Given the description of an element on the screen output the (x, y) to click on. 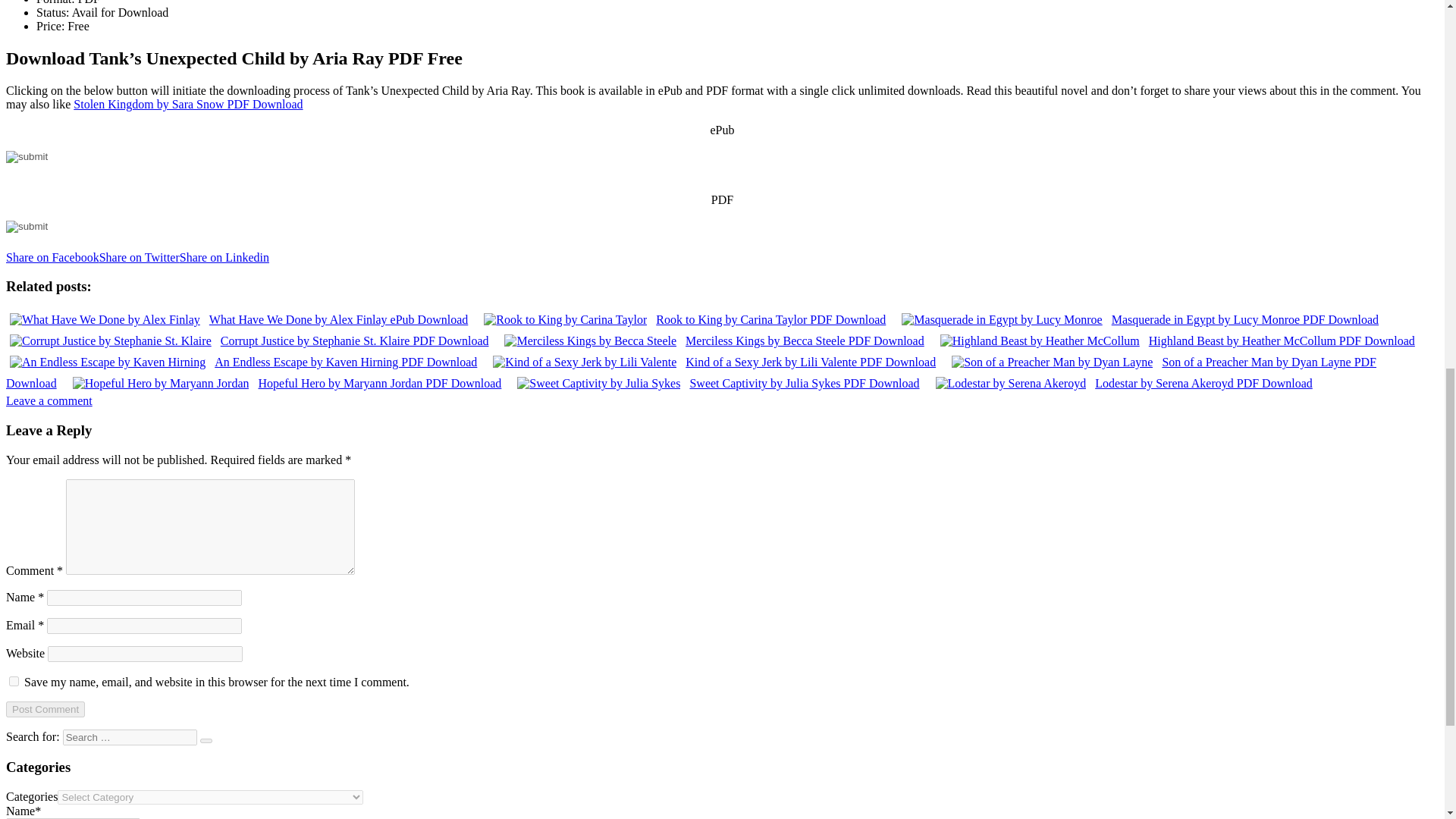
An Endless Escape by Kaven Hirning PDF Download (243, 361)
yes (13, 681)
Kind of a Sexy Jerk by Lili Valente PDF Download (714, 361)
Masquerade in Egypt by Lucy Monroe PDF Download (1141, 318)
Hopeful Hero by Maryann Jordan PDF Download (287, 382)
An Endless Escape by Kaven Hirning PDF Download (243, 361)
Post Comment (44, 709)
Corrupt Justice by Stephanie St. Klaire PDF Download (249, 340)
Share on Facebook (52, 256)
Hopeful Hero by Maryann Jordan PDF Download (287, 382)
